Given the description of an element on the screen output the (x, y) to click on. 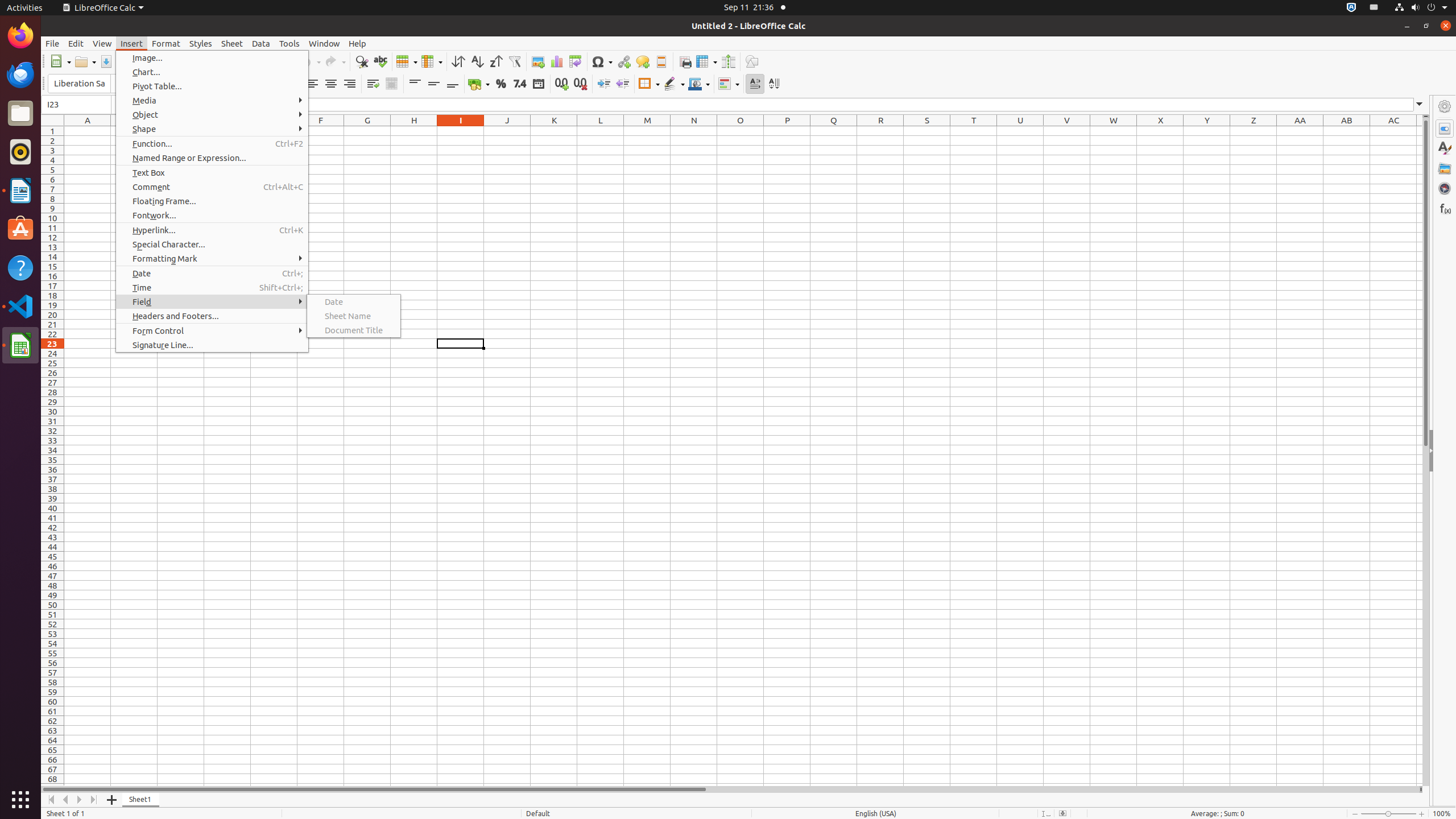
Sheet Element type: menu (231, 43)
Image Element type: push-button (537, 61)
Properties Element type: panel (1444, 450)
Hyperlink Element type: toggle-button (623, 61)
Add Decimal Place Element type: push-button (561, 83)
